Given the description of an element on the screen output the (x, y) to click on. 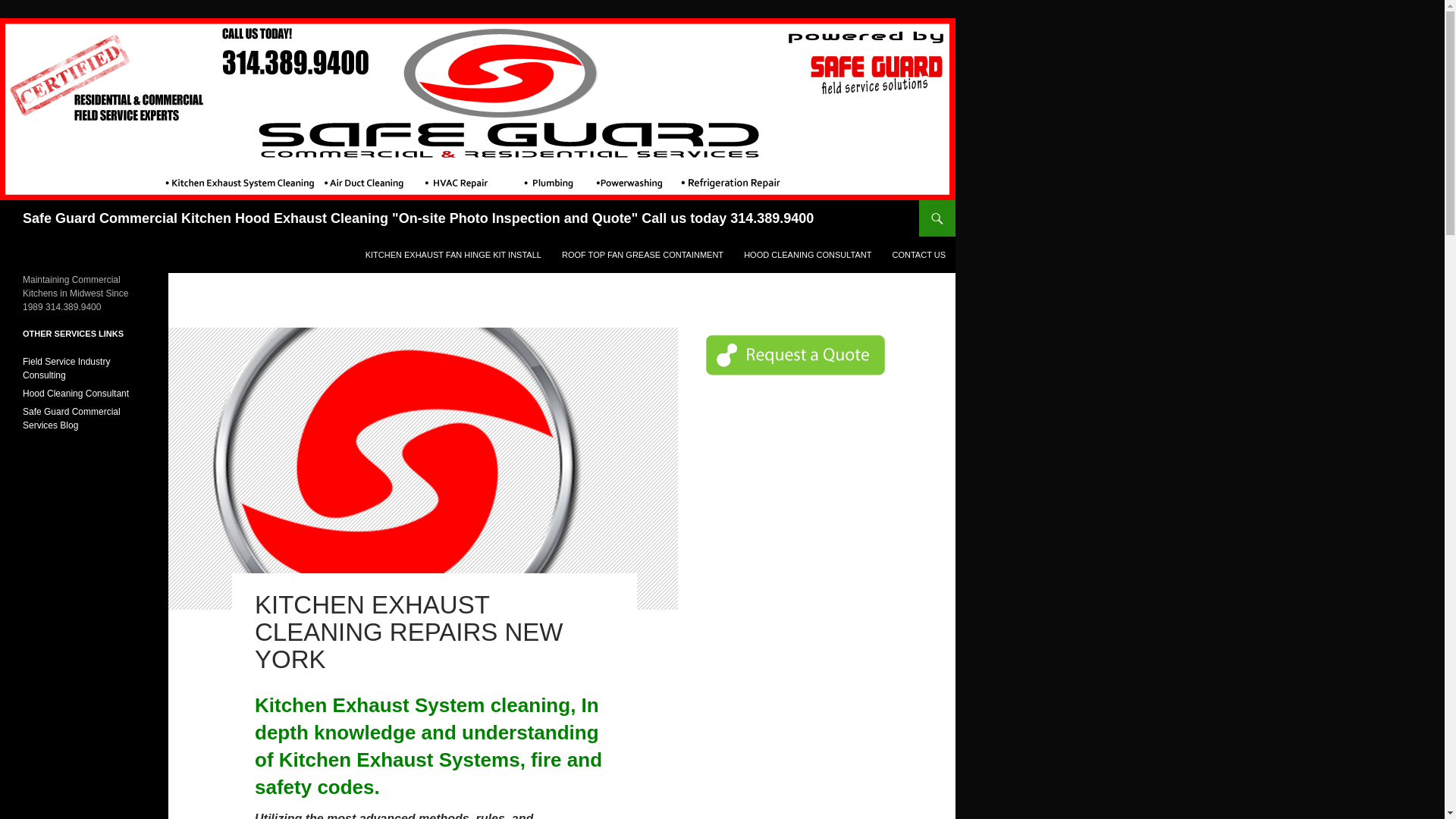
Other services for contractors (66, 368)
Safe Guard Commercial Services Blog (71, 418)
St Louis Hood Cleaning and Pressure Washing Blog (71, 418)
ROOF TOP FAN GREASE CONTAINMENT (642, 254)
Field Service Industry Consulting (66, 368)
KITCHEN EXHAUST FAN HINGE KIT INSTALL (453, 254)
We install the best quality kitchen exhaust fan hinge kits (453, 254)
In depth knowledge on Kitchen Exhaust Cleaning. (807, 254)
